Given the description of an element on the screen output the (x, y) to click on. 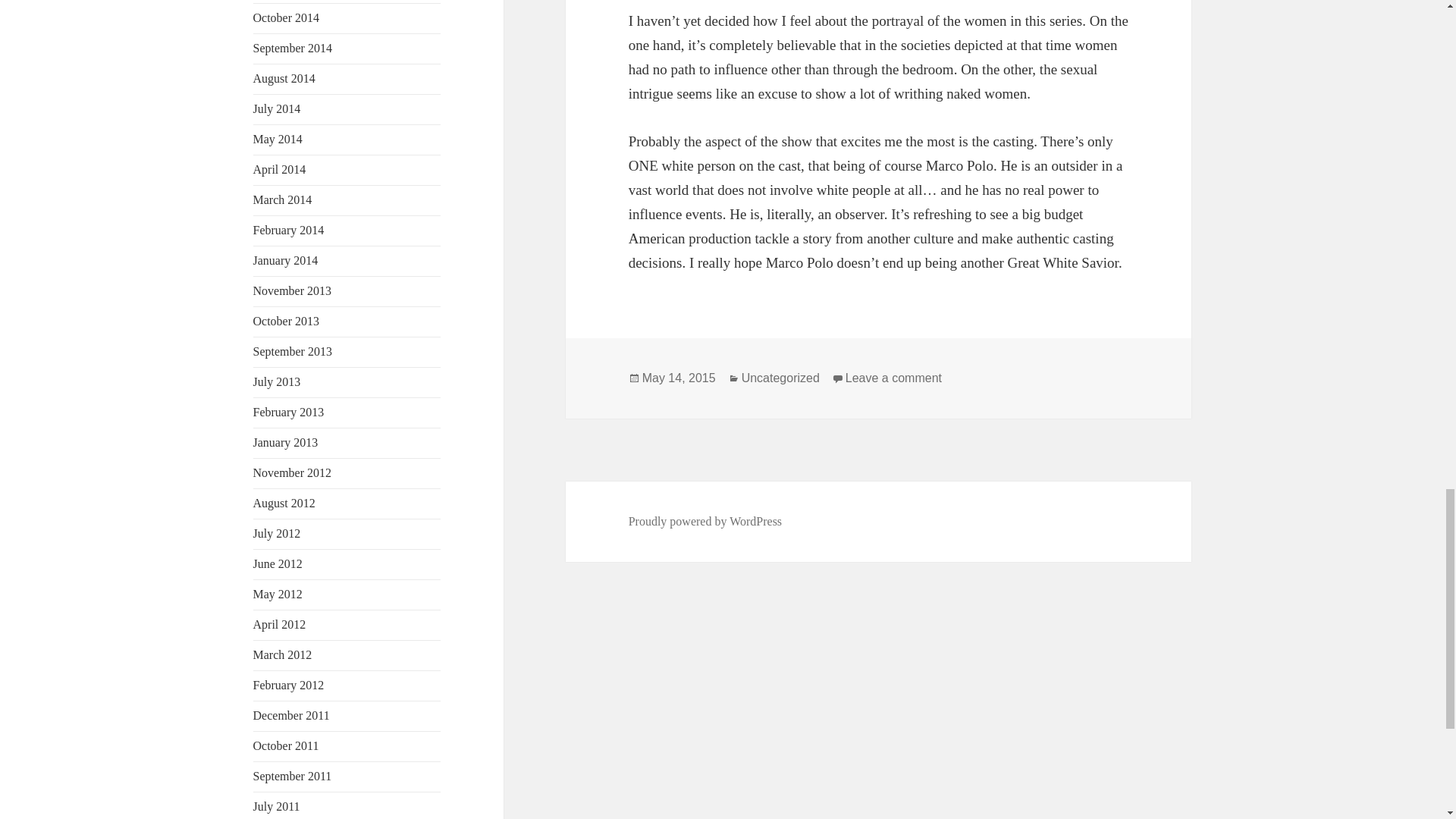
July 2014 (277, 108)
February 2014 (288, 229)
April 2014 (279, 169)
August 2014 (284, 78)
October 2013 (286, 320)
October 2014 (286, 17)
September 2014 (292, 47)
September 2013 (292, 350)
March 2014 (283, 199)
November 2013 (292, 290)
May 2014 (277, 138)
July 2013 (277, 381)
January 2014 (285, 259)
